Given the description of an element on the screen output the (x, y) to click on. 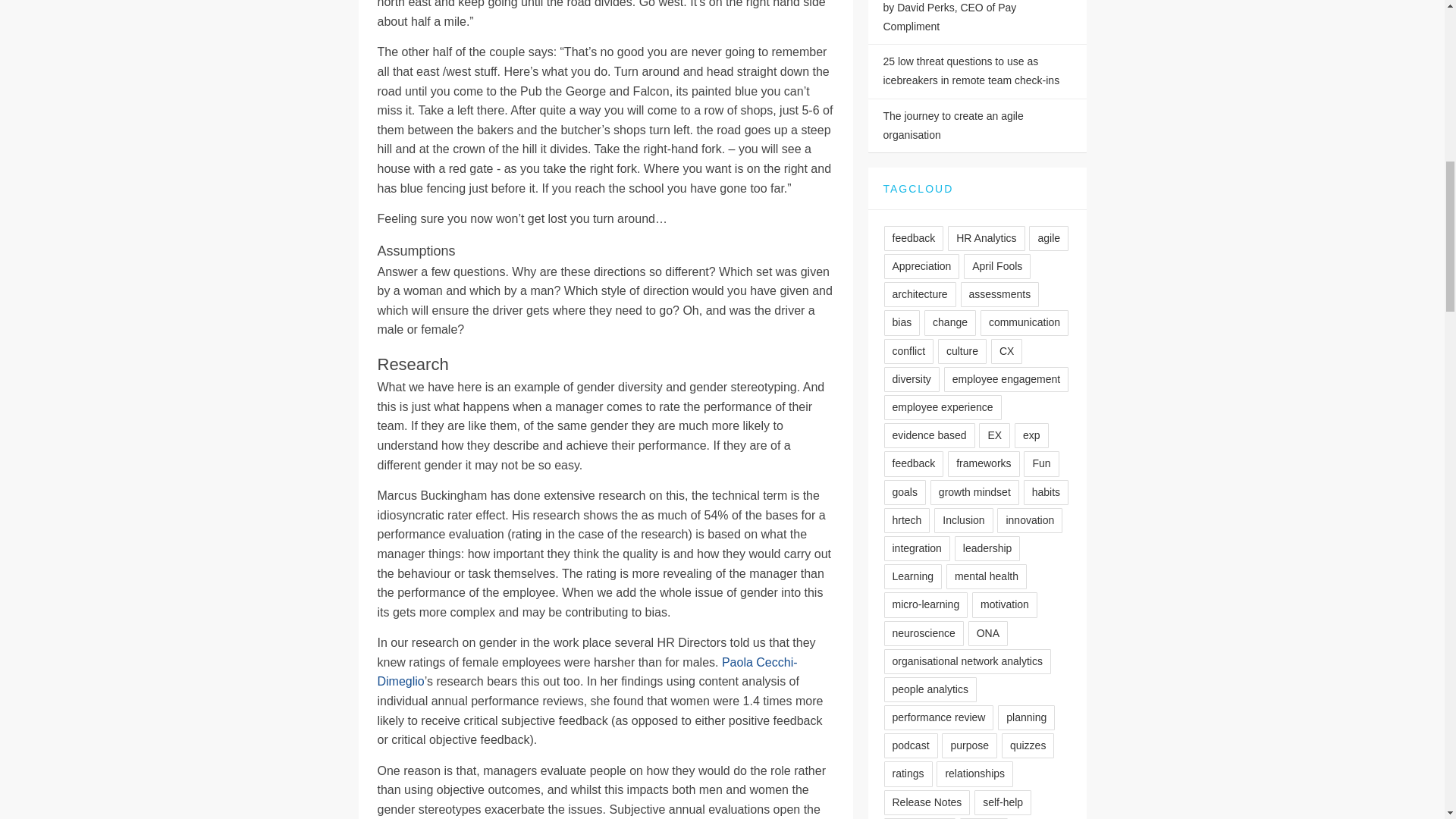
Paola Cecchi-Dimeglio (587, 672)
